Given the description of an element on the screen output the (x, y) to click on. 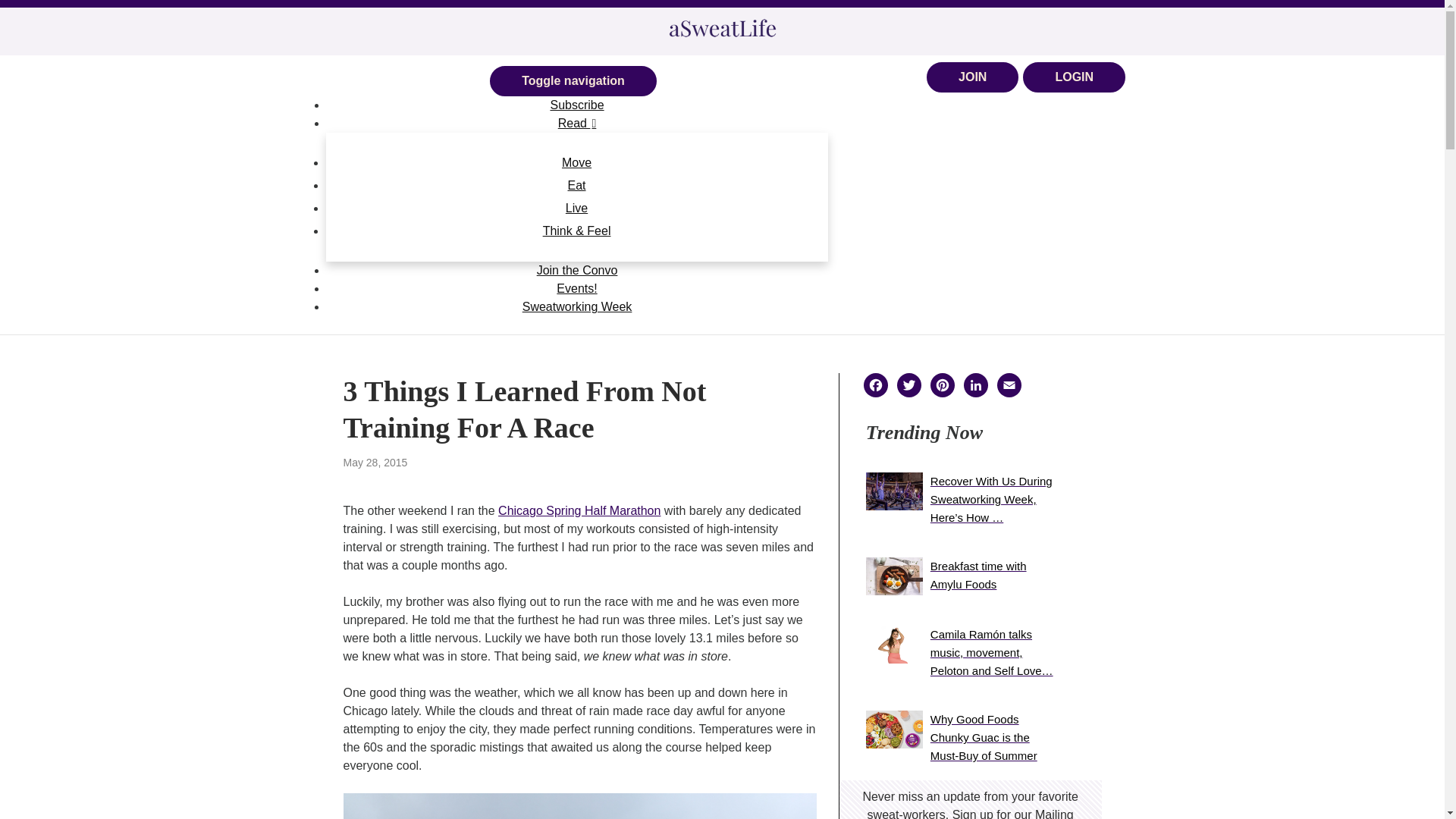
Events! (576, 287)
Toggle navigation (572, 81)
Subscribe (577, 103)
Move (576, 162)
Chicago Spring Half Marathon (579, 510)
LOGIN (1074, 77)
Join the Convo (577, 268)
Move (576, 162)
Live (576, 208)
Join the Convo (577, 268)
LOGIN (1074, 198)
Eat (576, 185)
Live (576, 208)
Eat (576, 185)
Facebook (879, 387)
